Given the description of an element on the screen output the (x, y) to click on. 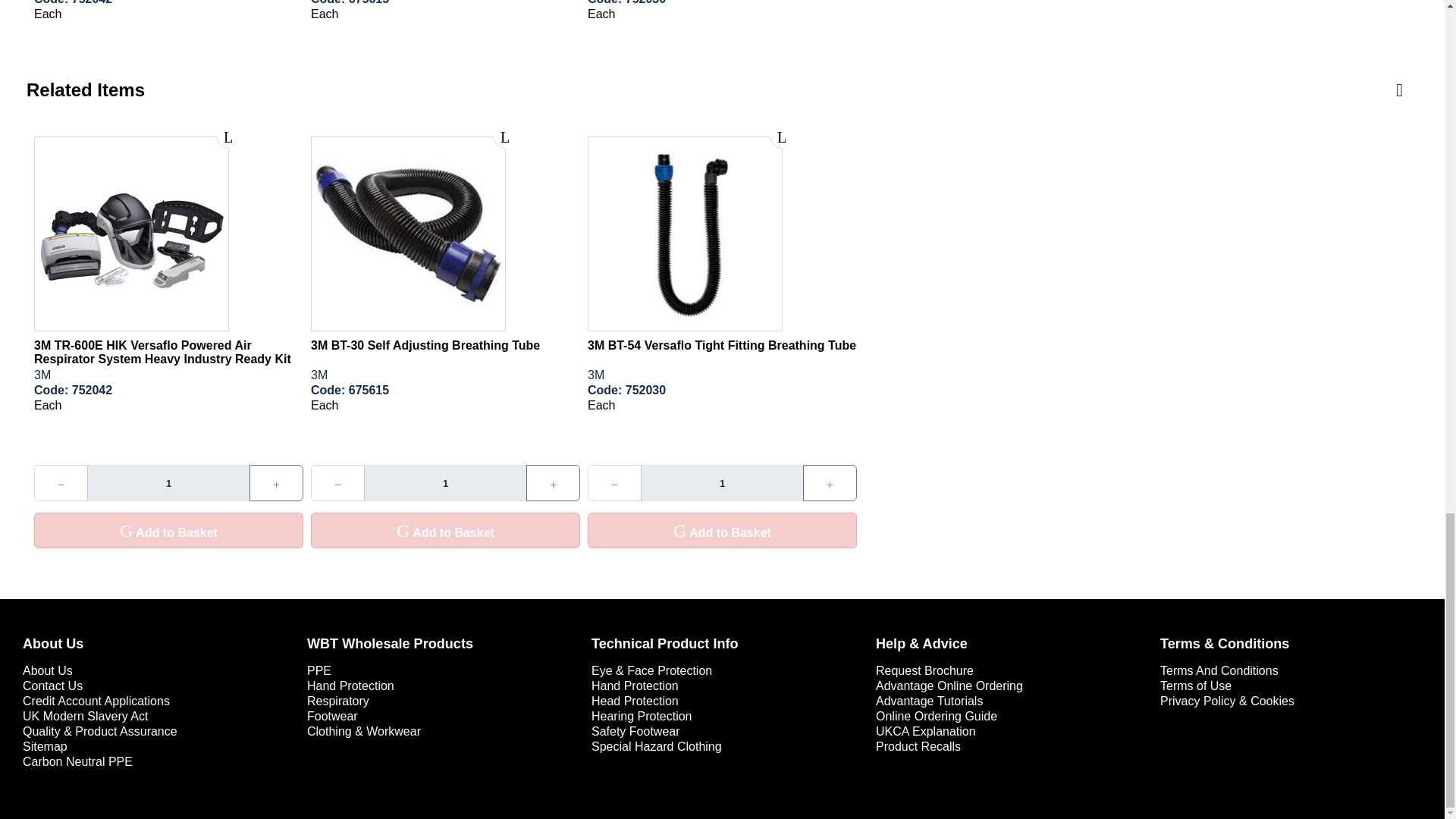
1 (721, 483)
1 (168, 483)
1 (445, 483)
